Given the description of an element on the screen output the (x, y) to click on. 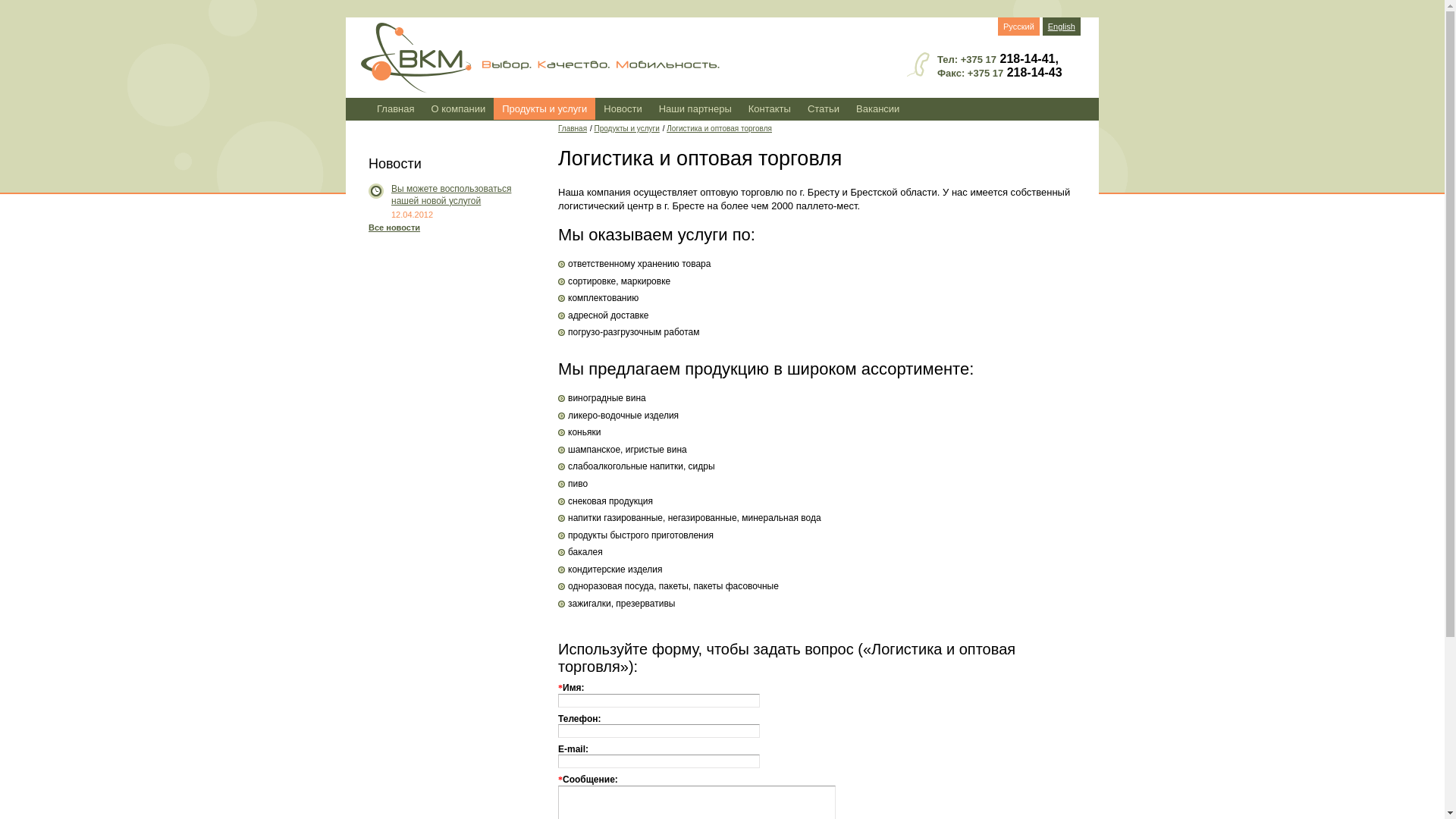
English Element type: text (1061, 26)
